Given the description of an element on the screen output the (x, y) to click on. 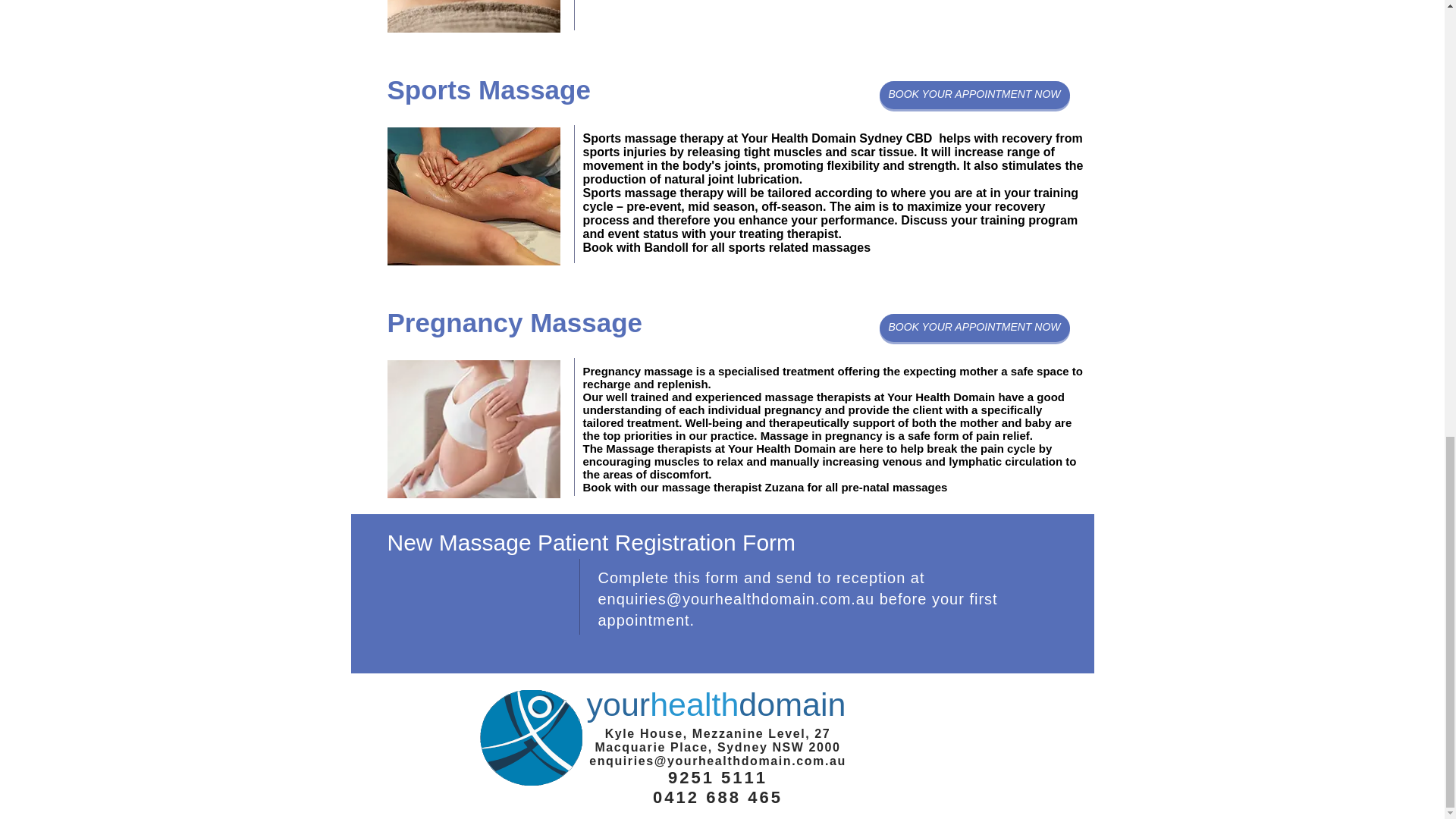
BOOK YOUR APPOINTMENT NOW (974, 94)
BOOK YOUR APPOINTMENT NOW (974, 327)
